Given the description of an element on the screen output the (x, y) to click on. 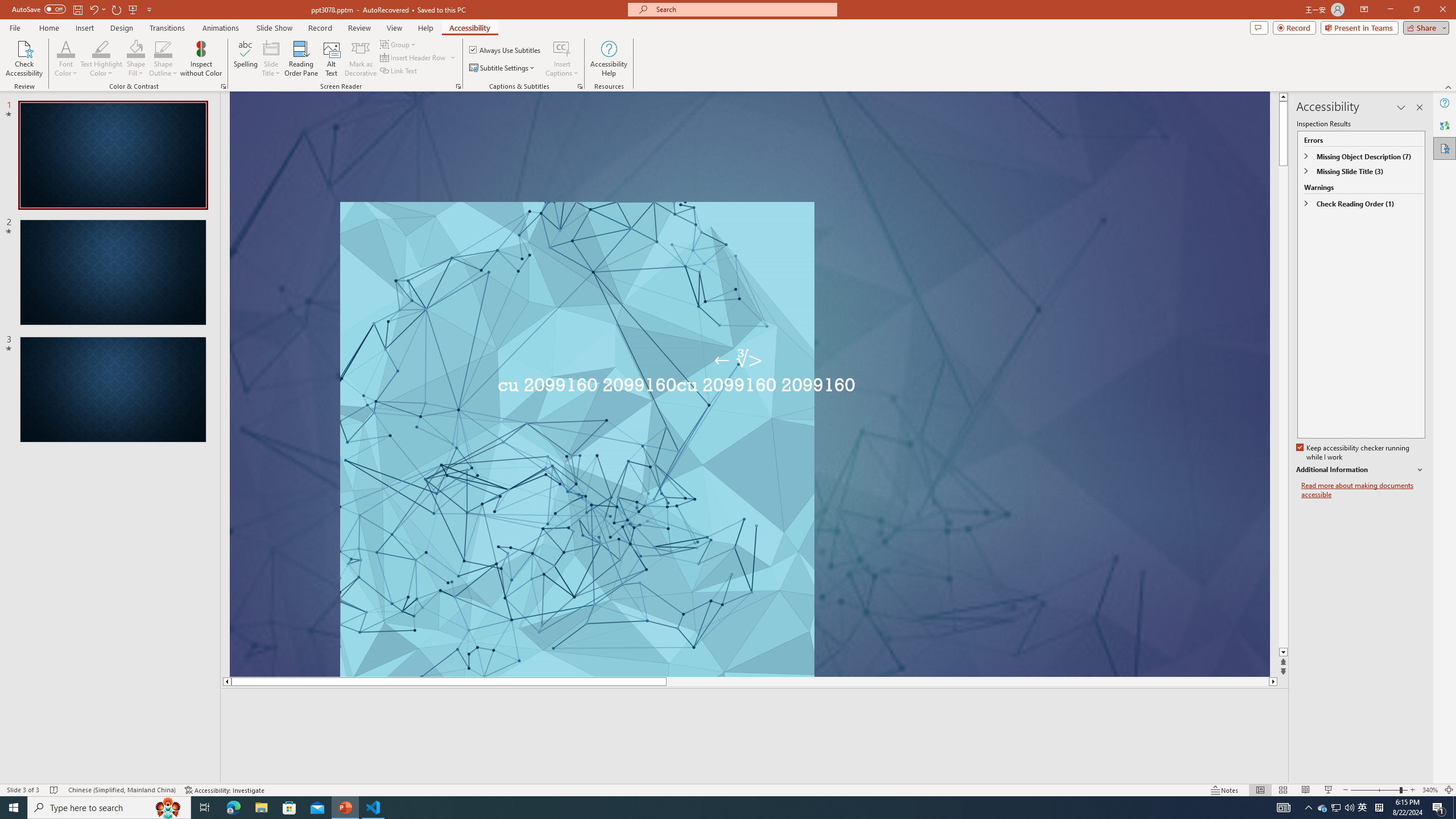
Always Use Subtitles (505, 49)
Insert Header Row (418, 56)
Captions & Subtitles (580, 85)
